Given the description of an element on the screen output the (x, y) to click on. 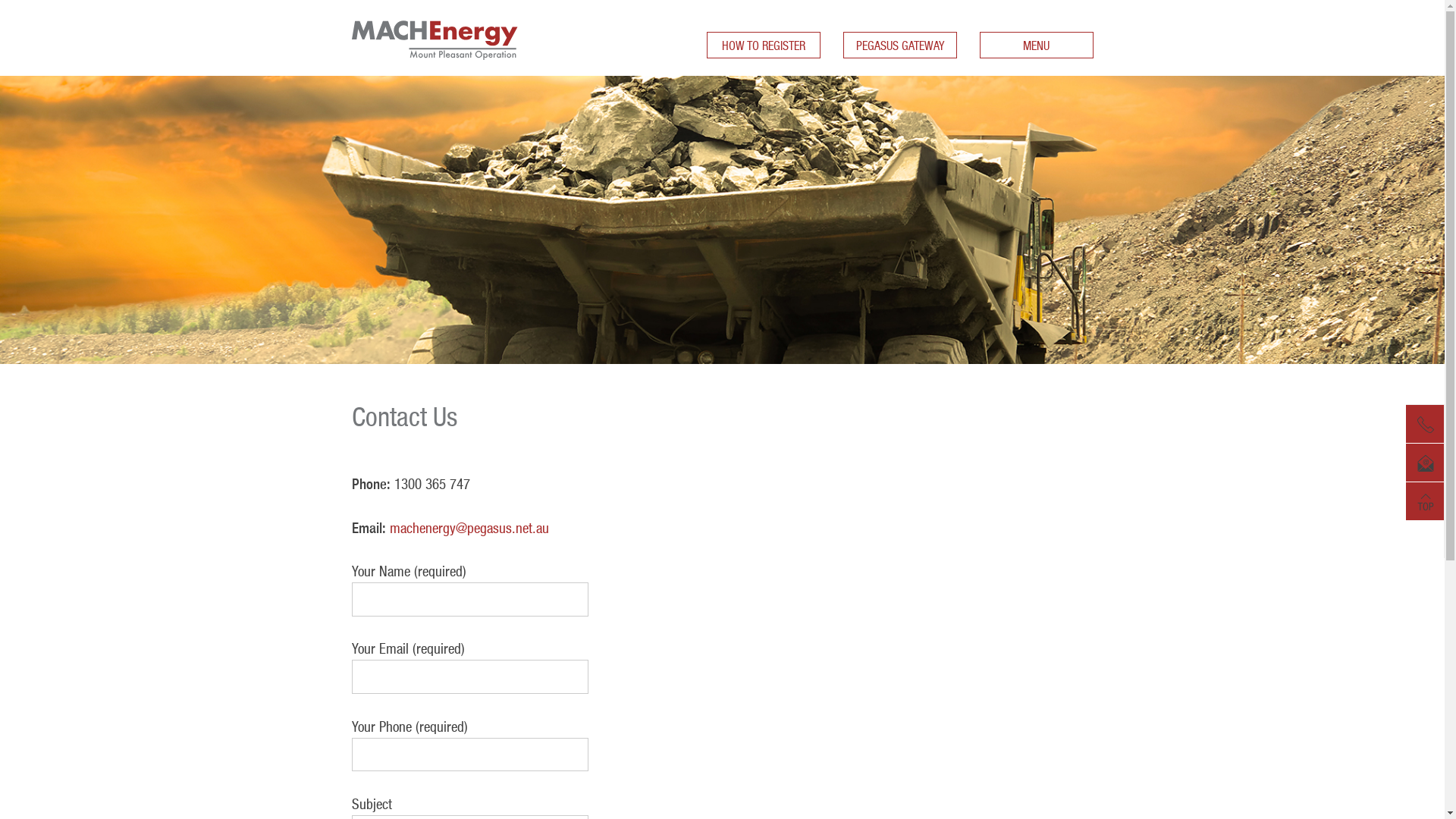
MENU Element type: text (1036, 44)
Mach Energy Contractors Element type: text (435, 65)
PEGASUS GATEWAY Element type: text (900, 44)
HOW TO REGISTER Element type: text (763, 44)
machenergy@pegasus.net.au Element type: text (469, 527)
